Given the description of an element on the screen output the (x, y) to click on. 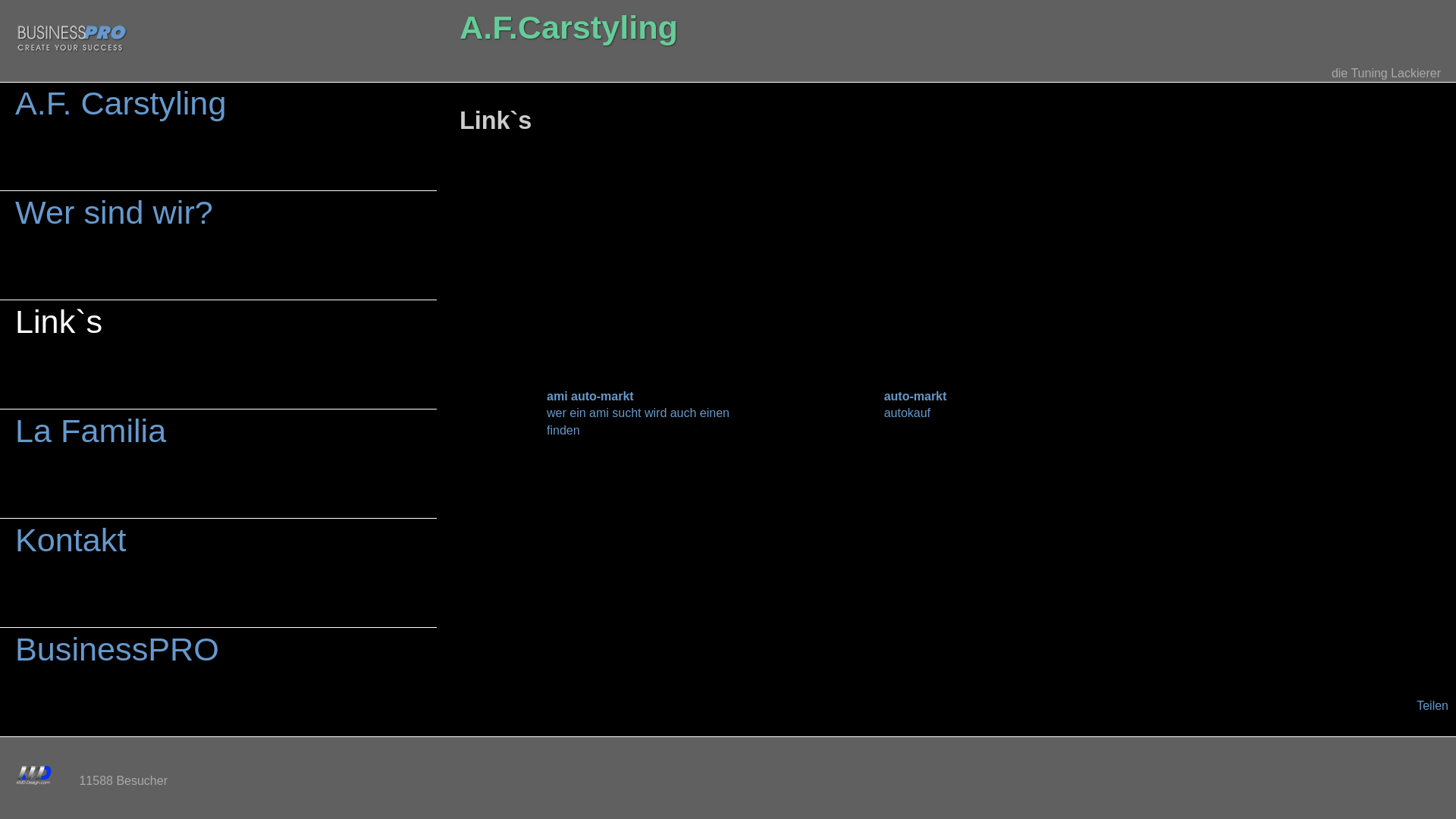
Link`s Element type: text (218, 354)
Kontakt Element type: text (218, 572)
auto-markt
autokauf Element type: text (950, 401)
Wer sind wir? Element type: text (218, 245)
Advertisement Element type: hover (950, 259)
ami auto-markt
wer ein ami sucht wird auch einen finden Element type: text (612, 409)
La Familia Element type: text (218, 463)
BusinessPRO Element type: text (218, 682)
Teilen Element type: text (1432, 705)
A.F. Carstyling Element type: text (218, 136)
